Given the description of an element on the screen output the (x, y) to click on. 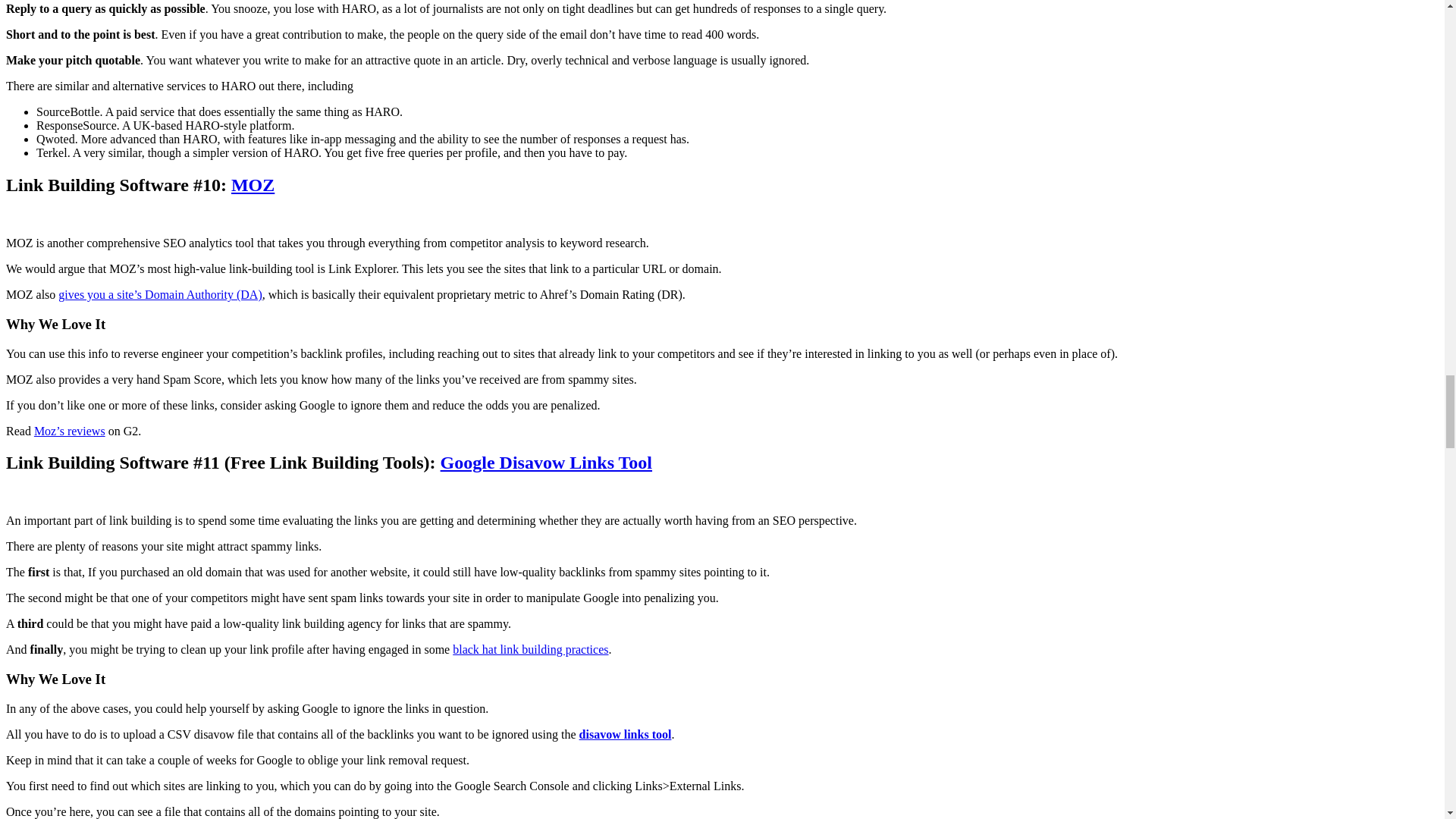
disavow links tool (625, 734)
Google Disavow Links Tool (546, 462)
black hat link building practices (530, 649)
MOZ (253, 184)
